Given the description of an element on the screen output the (x, y) to click on. 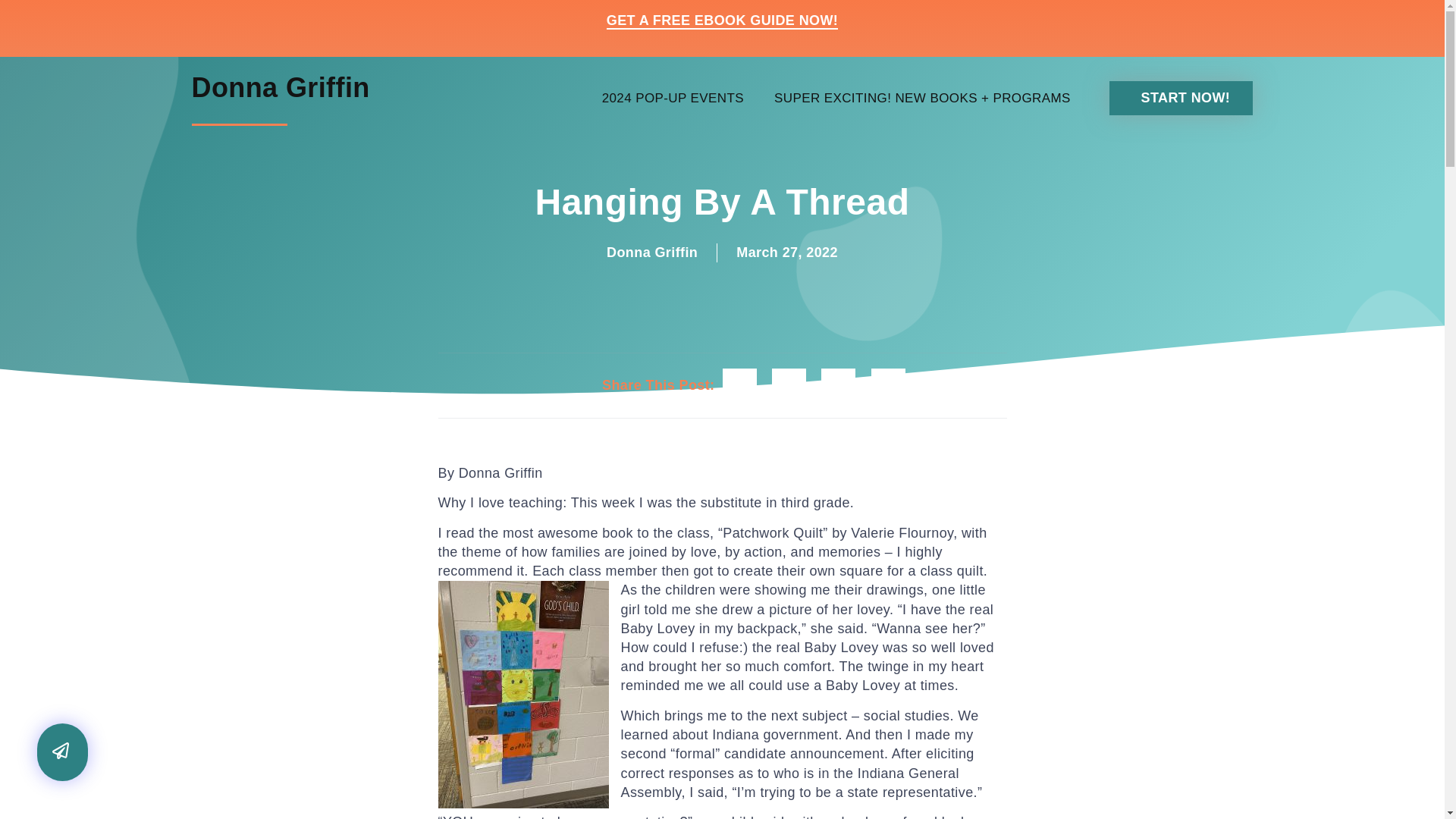
START NOW! (1181, 98)
March 27, 2022 (787, 252)
Donna Griffin (652, 252)
GET A FREE EBOOK GUIDE NOW! (722, 21)
2024 POP-UP EVENTS (672, 98)
Donna Griffin (279, 87)
